Given the description of an element on the screen output the (x, y) to click on. 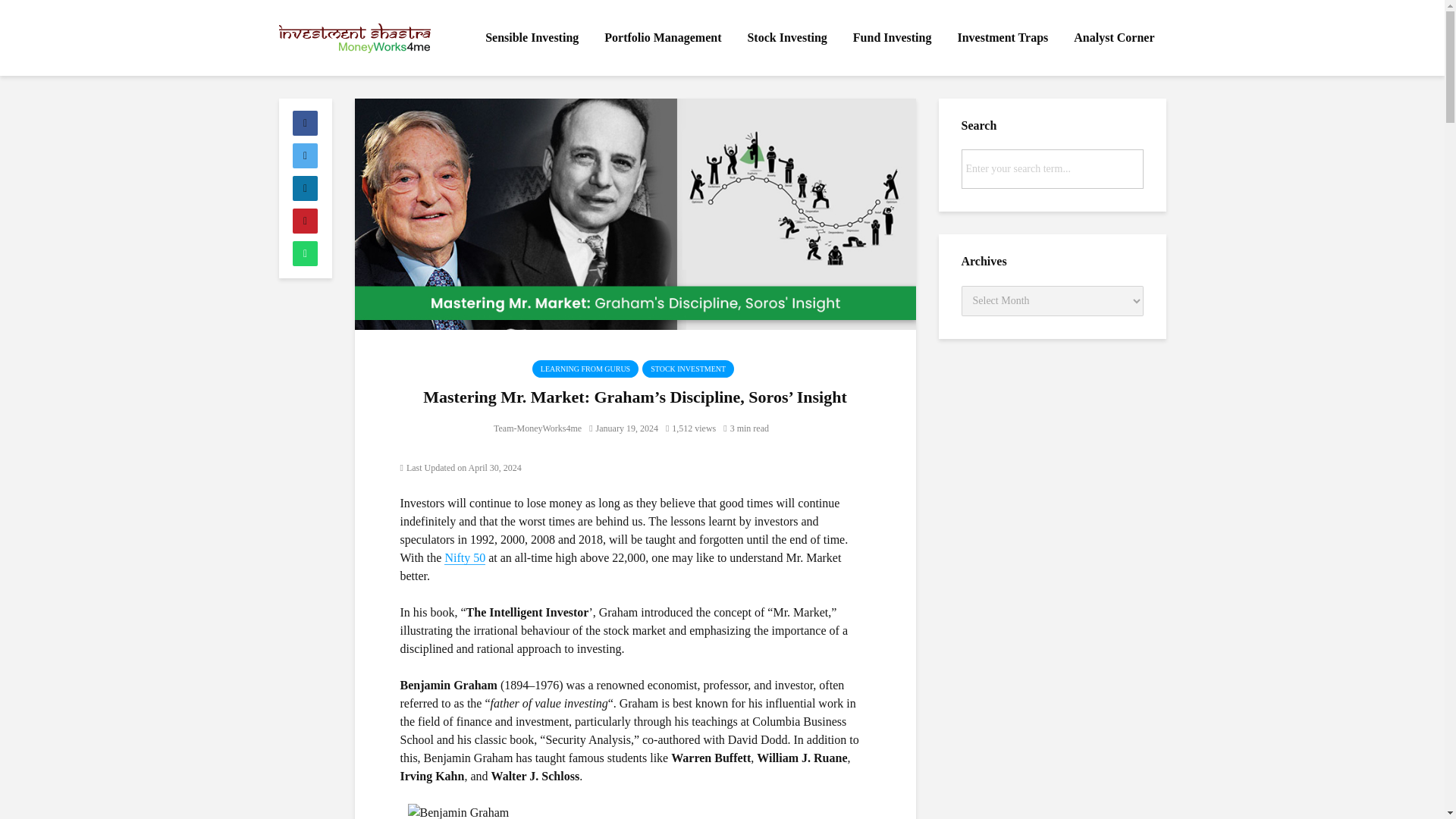
Portfolio Management (662, 37)
Sensible Investing (531, 37)
Analyst Corner (1114, 37)
Investment Traps (1001, 37)
Stock Investing (786, 37)
Fund Investing (892, 37)
